Given the description of an element on the screen output the (x, y) to click on. 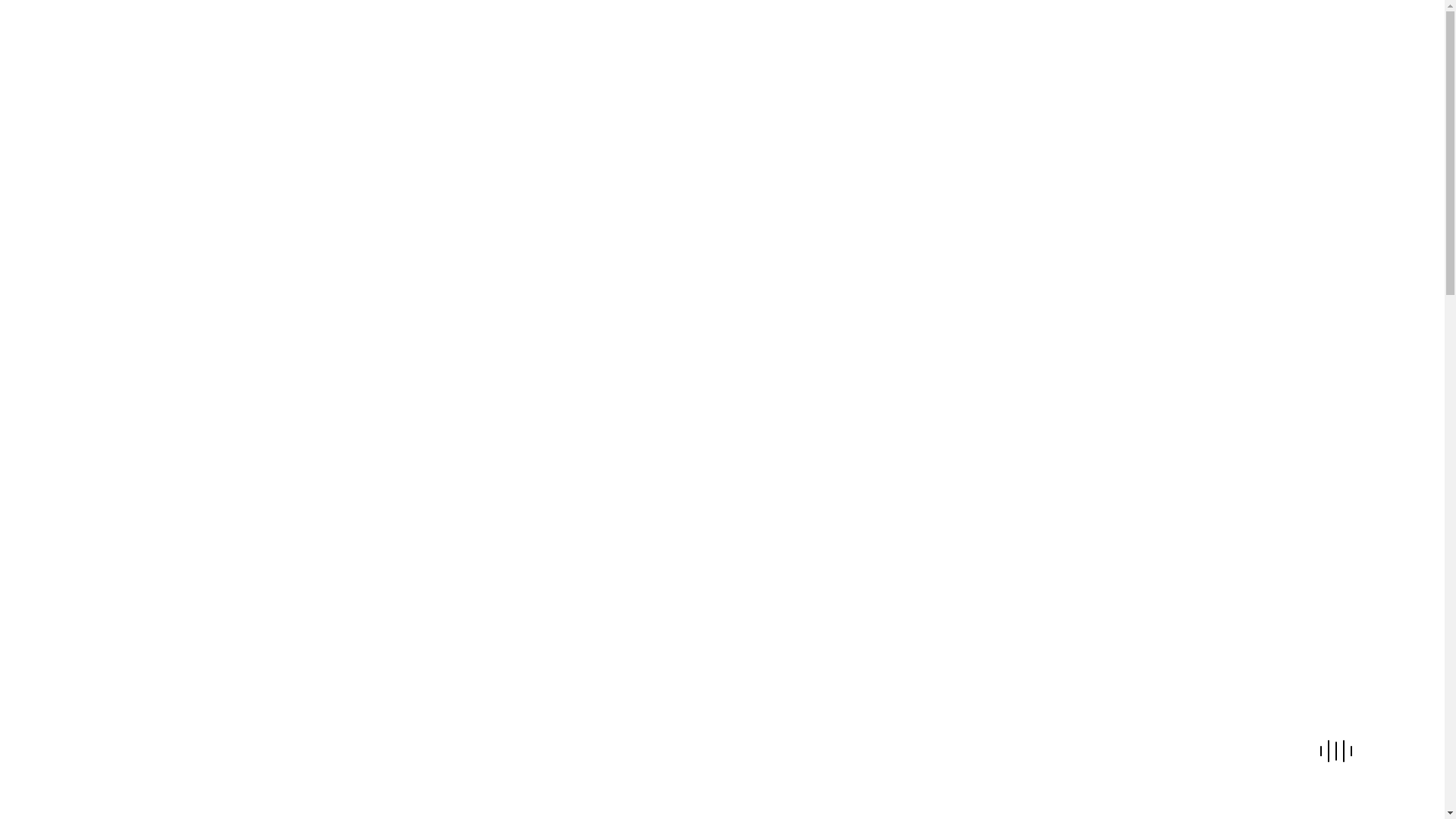
GALLERY Element type: text (1039, 35)
CONTACT Element type: text (1106, 35)
IN HOUSE JOINERY Element type: text (761, 35)
PORTFOLIO Element type: text (864, 35)
TESTIMONIALS Element type: text (956, 35)
HOME Element type: text (620, 35)
ABOUT Element type: text (671, 35)
